Given the description of an element on the screen output the (x, y) to click on. 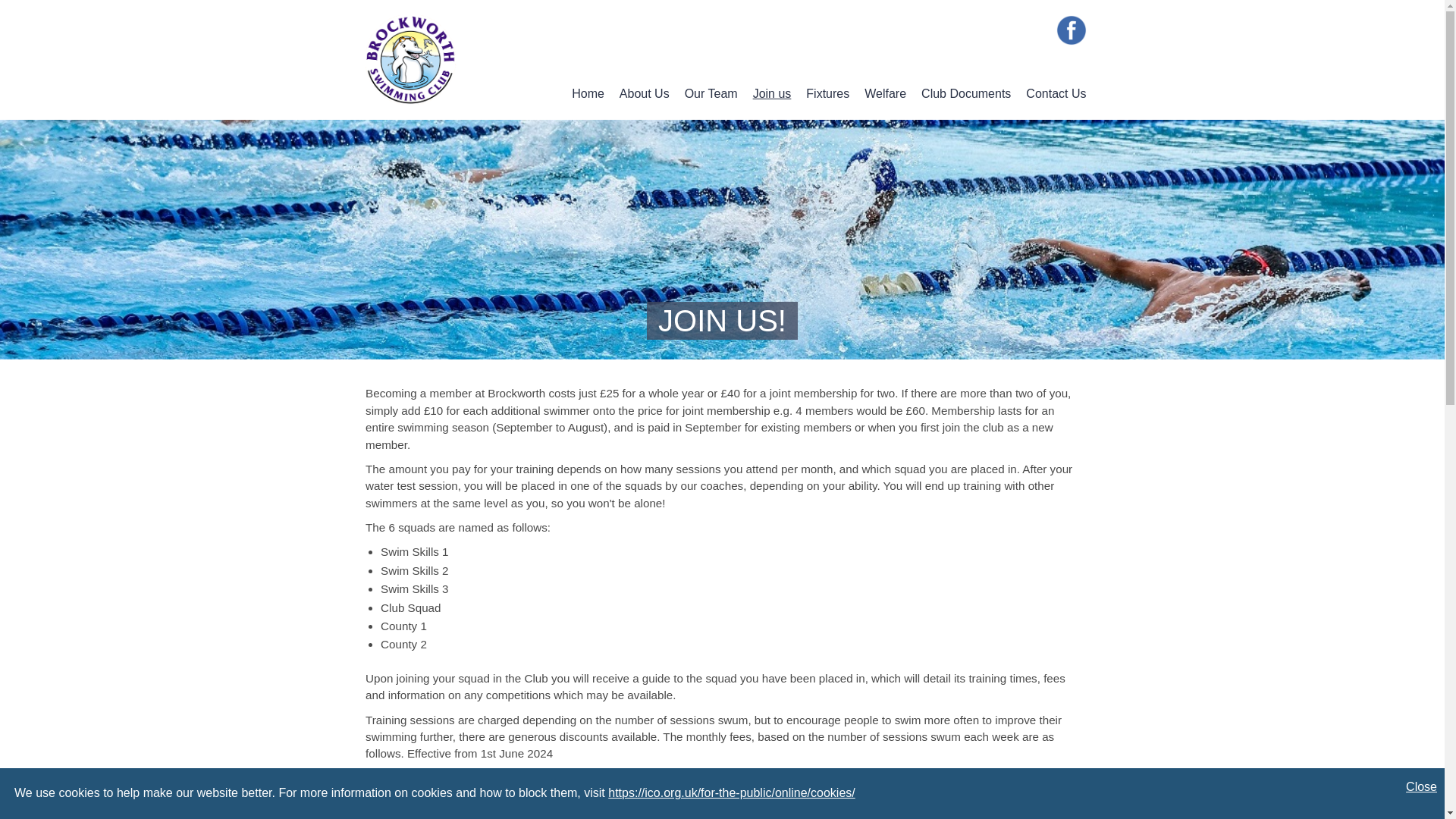
About Us (644, 92)
Club Documents (965, 92)
Home (588, 92)
Join us (772, 92)
Information Commissioner's Office (732, 792)
Close (1421, 786)
Join us (772, 92)
Our Team (711, 92)
Home (588, 92)
